Given the description of an element on the screen output the (x, y) to click on. 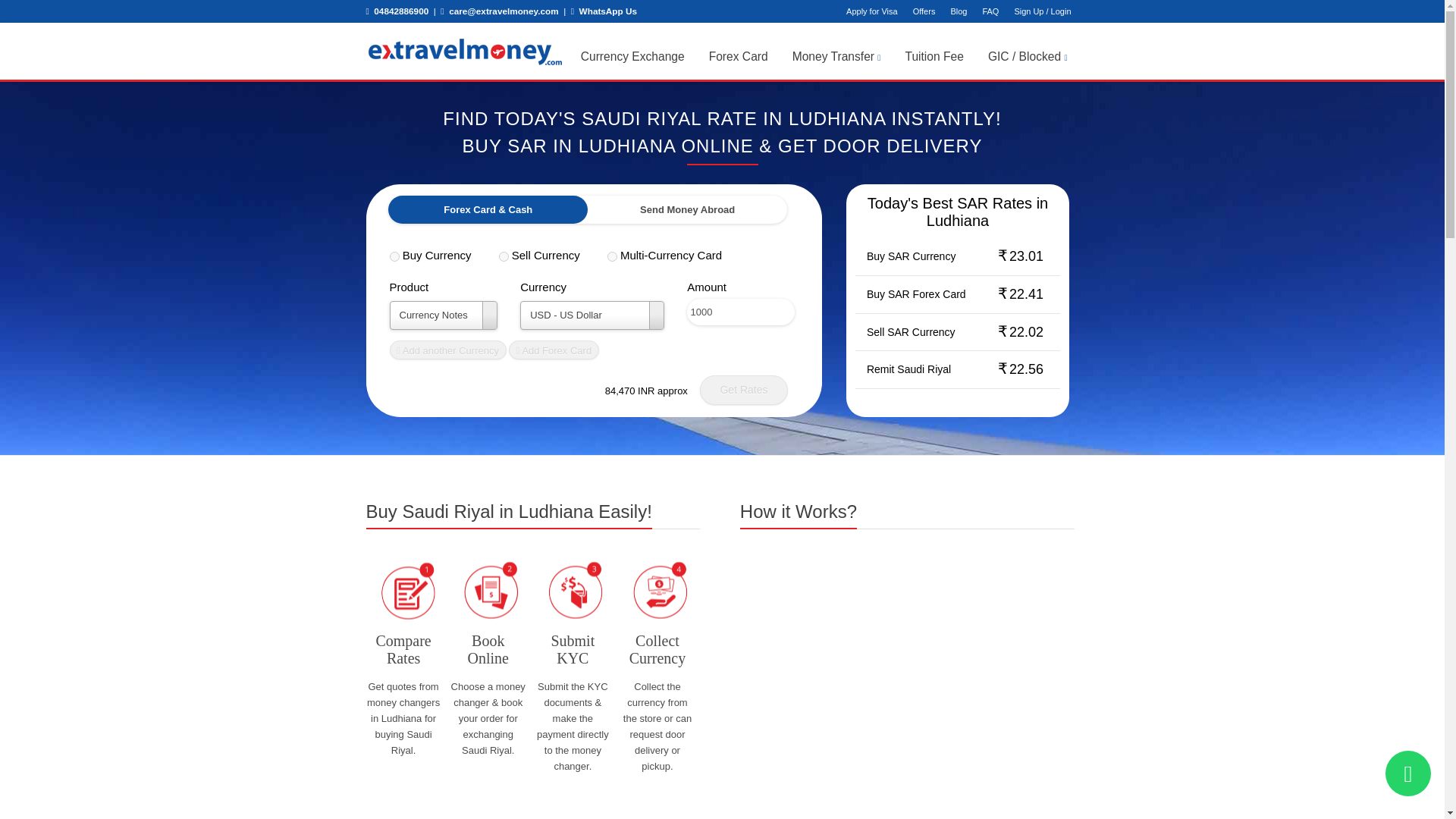
Forex Card (737, 56)
forexcard (612, 256)
Add another Currency (448, 349)
Currency Notes (443, 315)
  WhatsApp Us (603, 10)
Offers (924, 11)
buy (394, 256)
FAQ (990, 11)
sell (503, 256)
Blog (958, 11)
Money Transfer (836, 56)
Tuition Fee (933, 56)
Apply for Visa (871, 11)
Currency Exchange (632, 56)
Exchange foreign currency for Indian rupee (547, 254)
